Given the description of an element on the screen output the (x, y) to click on. 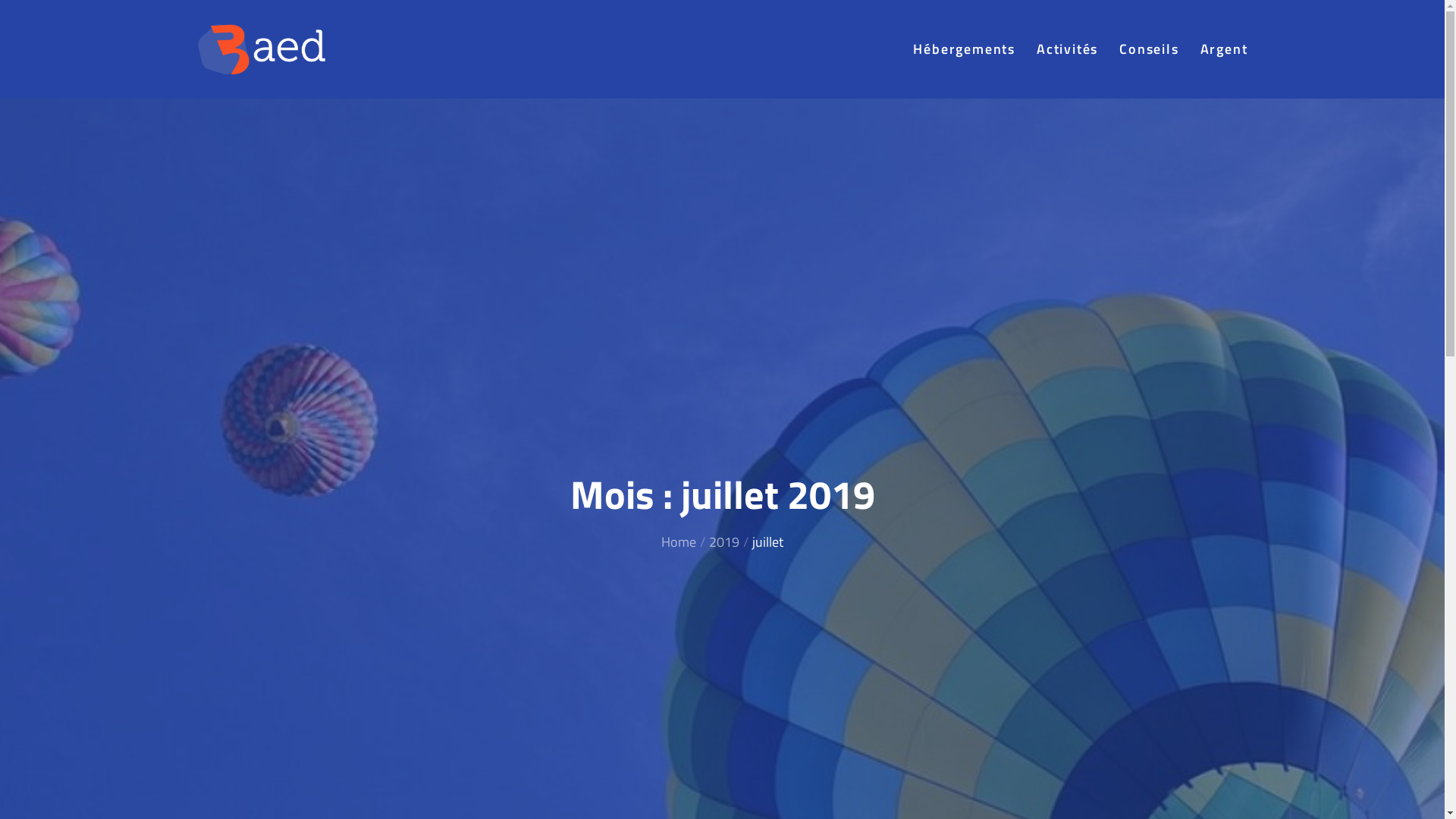
Home Element type: text (678, 541)
Conseils Element type: text (1148, 48)
2019 Element type: text (724, 541)
Argent Element type: text (1224, 48)
Baed Element type: text (370, 64)
